Given the description of an element on the screen output the (x, y) to click on. 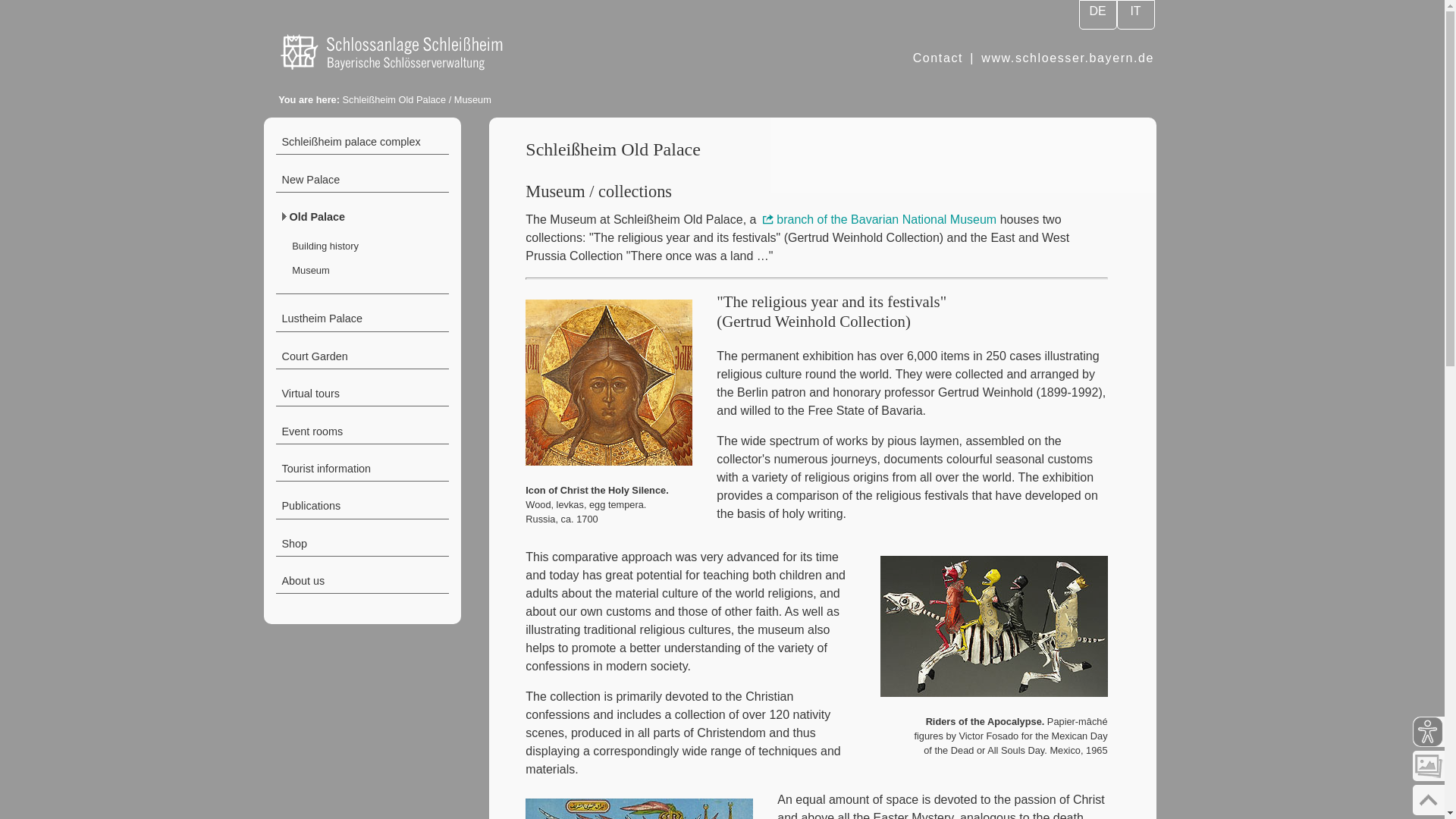
Building history (367, 246)
New Palace (362, 178)
Building history of the New Palace (362, 178)
External link to www.schloesser.bayern.de (1067, 57)
Tourist information (362, 468)
Contact (937, 57)
Publications (362, 505)
Startup page (414, 67)
Italian version (1135, 14)
external link - link will be opened in a new window (877, 219)
